Given the description of an element on the screen output the (x, y) to click on. 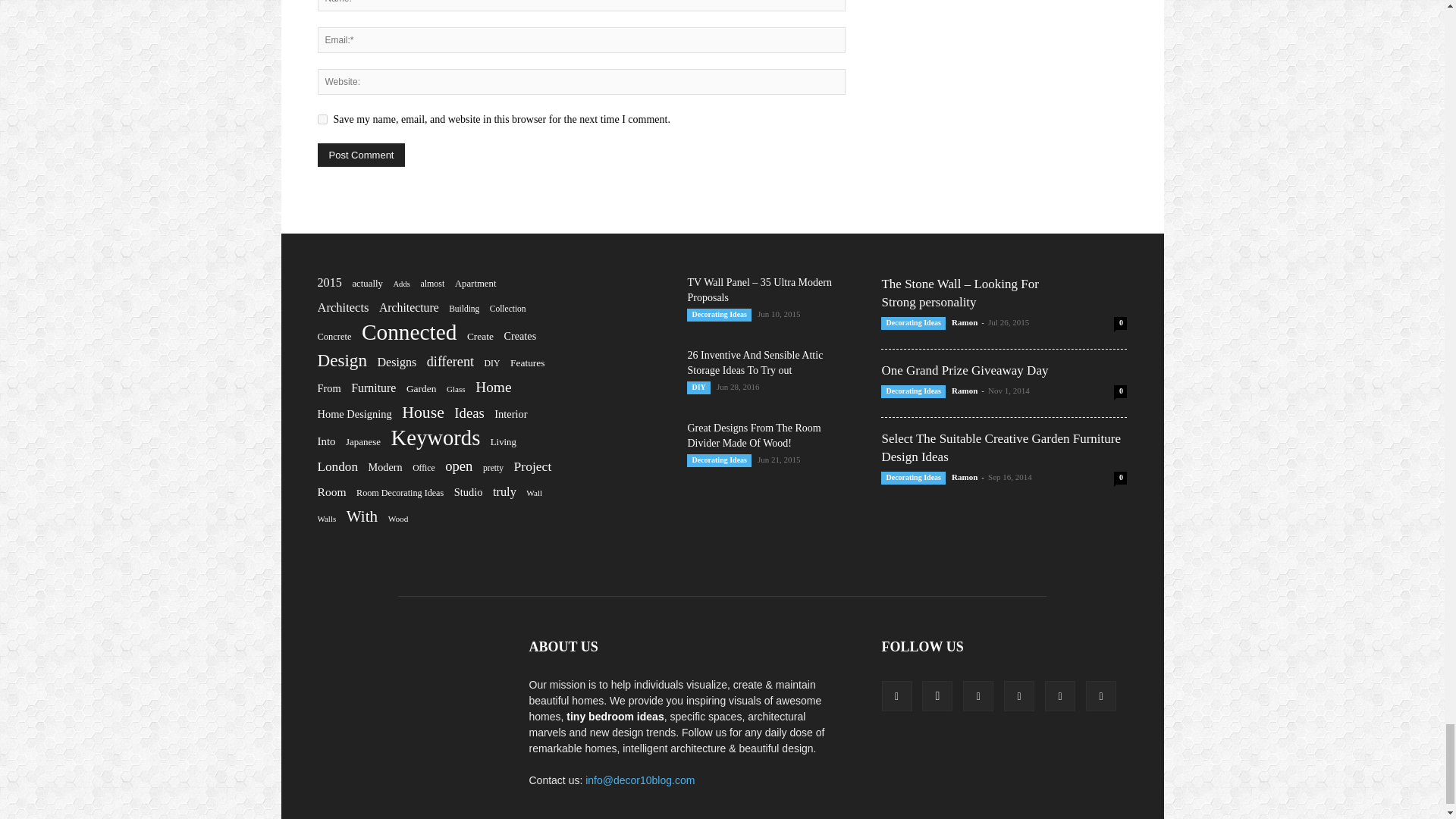
yes (321, 119)
Post Comment (360, 155)
